Given the description of an element on the screen output the (x, y) to click on. 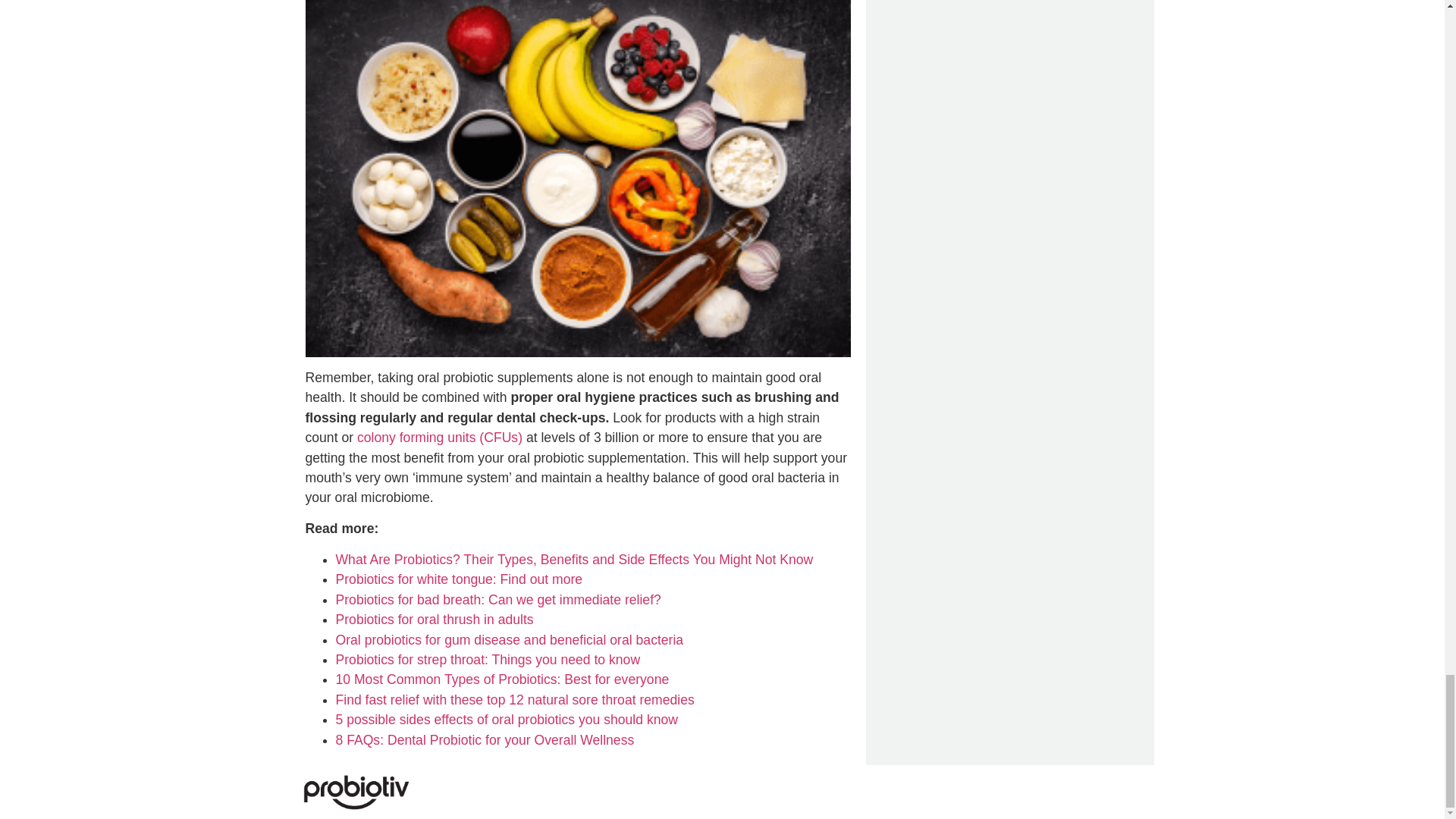
Oral probiotics for gum disease and beneficial oral bacteria (508, 639)
Probiotics for white tongue: Find out more (458, 579)
Probiotics for bad breath: Can we get immediate relief? (497, 599)
Probiotics for oral thrush in adults (433, 619)
10 Most Common Types of Probiotics: Best for everyone (501, 679)
5 possible (366, 719)
Probiotics for strep throat: Things you need to know (487, 659)
sides effects of oral probiotics (486, 719)
